Given the description of an element on the screen output the (x, y) to click on. 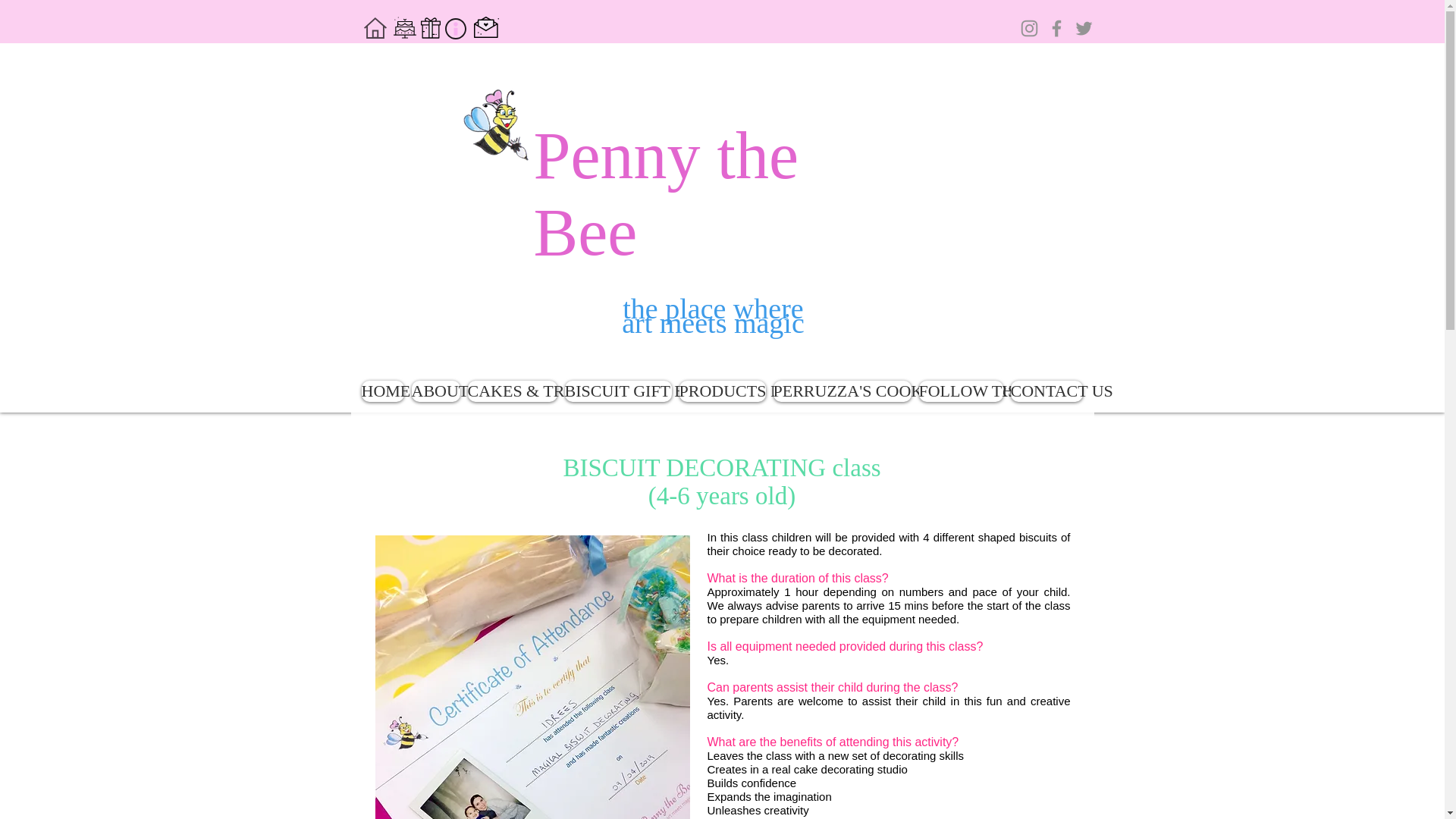
PERRUZZA'S COOKIE CUTTERS (842, 391)
CONTACT US (1045, 391)
BISCUIT GIFT BOXES (617, 391)
ABOUT (435, 391)
PRODUCTS INFO (722, 391)
FOLLOW THE BEE (960, 391)
HOME (382, 391)
